Given the description of an element on the screen output the (x, y) to click on. 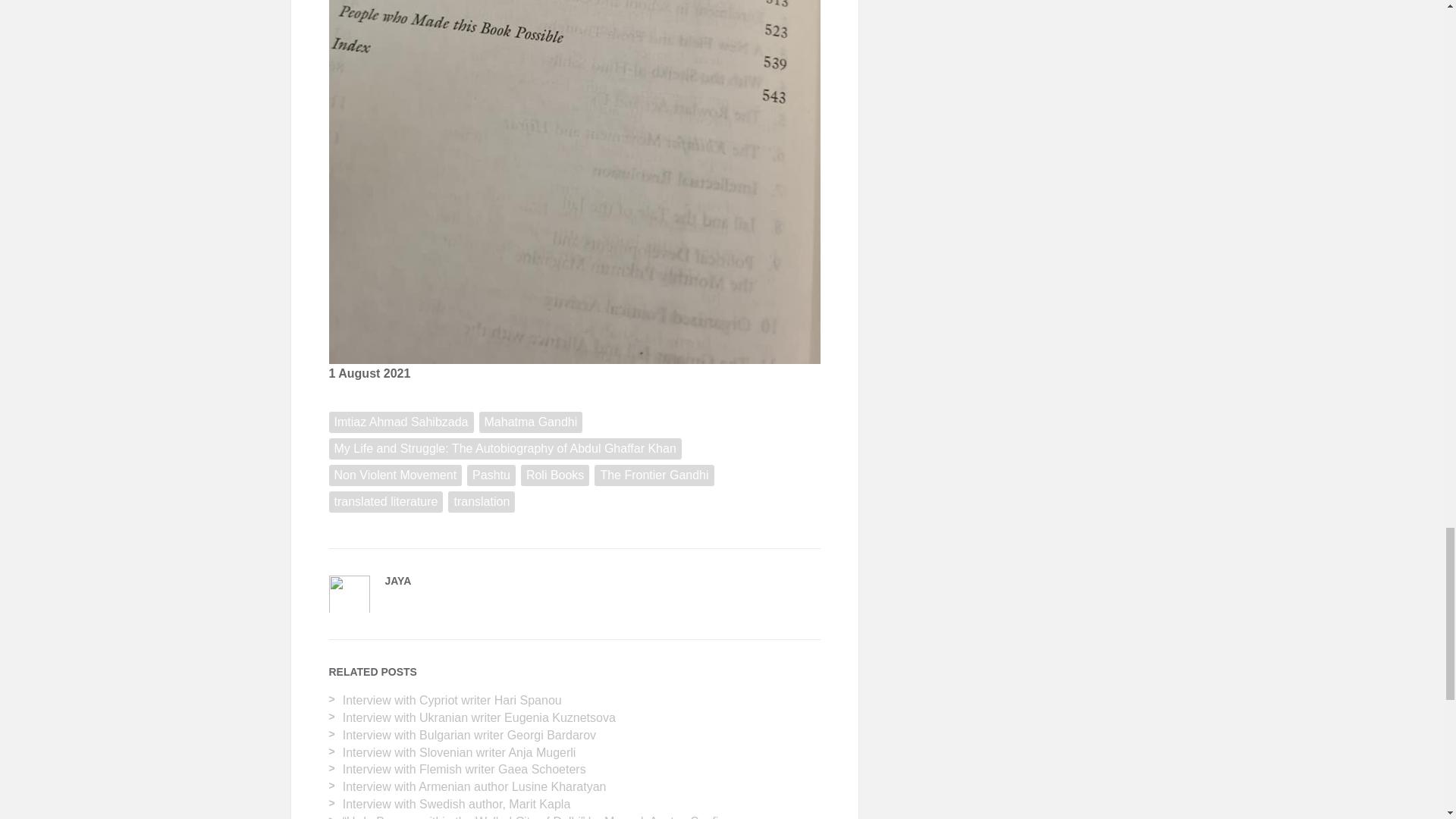
Interview with Swedish author, Marit Kapla (456, 803)
Pashtu (491, 475)
Interview with Cypriot writer Hari Spanou (452, 699)
Non Violent Movement (396, 475)
Interview with Armenian author Lusine Kharatyan (474, 786)
Interview with Flemish writer Gaea Schoeters (464, 768)
Imtiaz Ahmad Sahibzada (401, 422)
JAYA (398, 580)
Interview with Bulgarian writer Georgi Bardarov (468, 735)
